Given the description of an element on the screen output the (x, y) to click on. 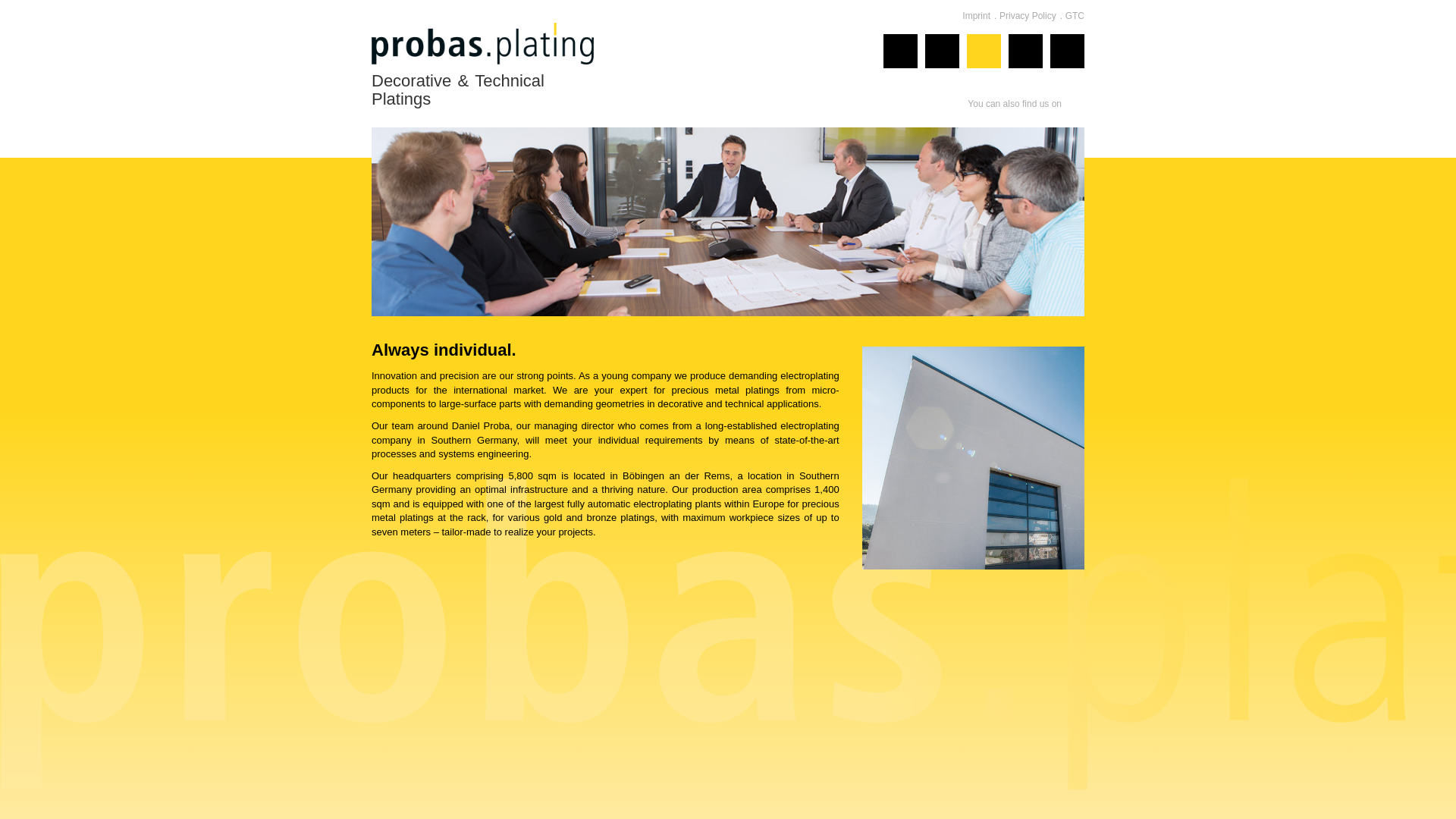
GTC (1074, 15)
Imprint (978, 15)
Privacy Policy (1030, 15)
